Given the description of an element on the screen output the (x, y) to click on. 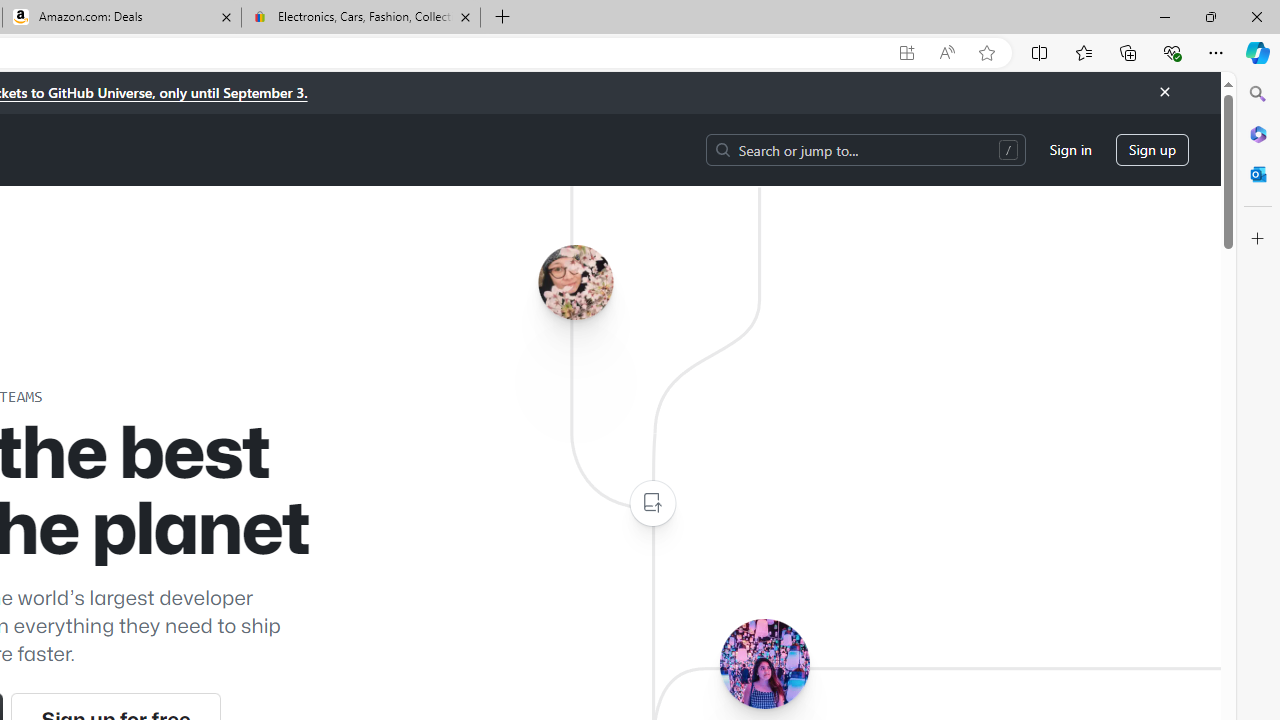
Avatar of the user teenage-witch (764, 663)
Avatar of the user ohjoycelau (575, 281)
